Given the description of an element on the screen output the (x, y) to click on. 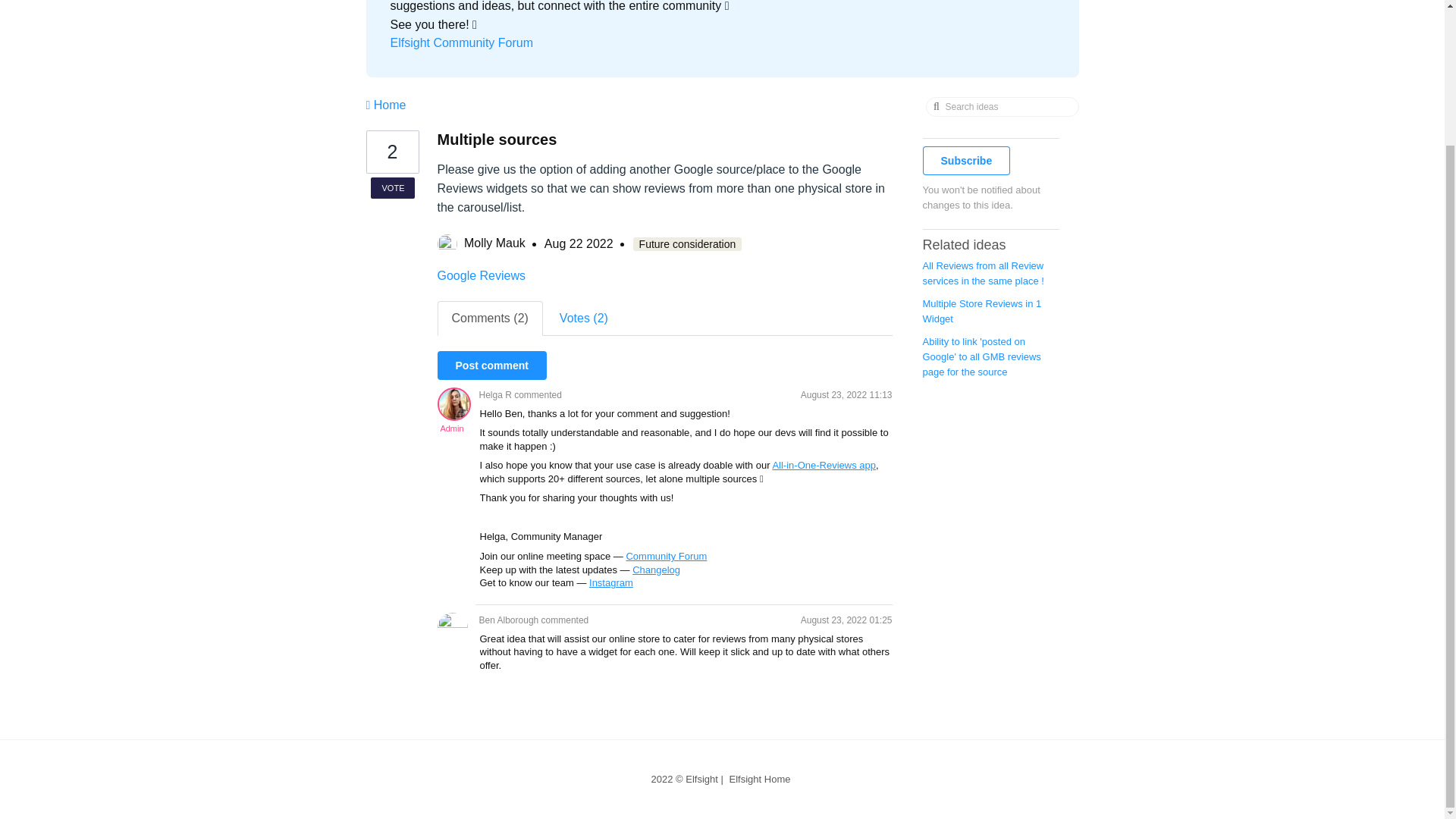
Changelog (655, 569)
Home (385, 104)
Instagram (611, 582)
All-in-One-Reviews app (823, 464)
Future consideration (687, 243)
Subscribe (965, 160)
Elfsight Home (759, 778)
Elfsight Community Forum (461, 42)
Google Reviews (480, 275)
Multiple Store Reviews in 1 Widget (981, 311)
